Given the description of an element on the screen output the (x, y) to click on. 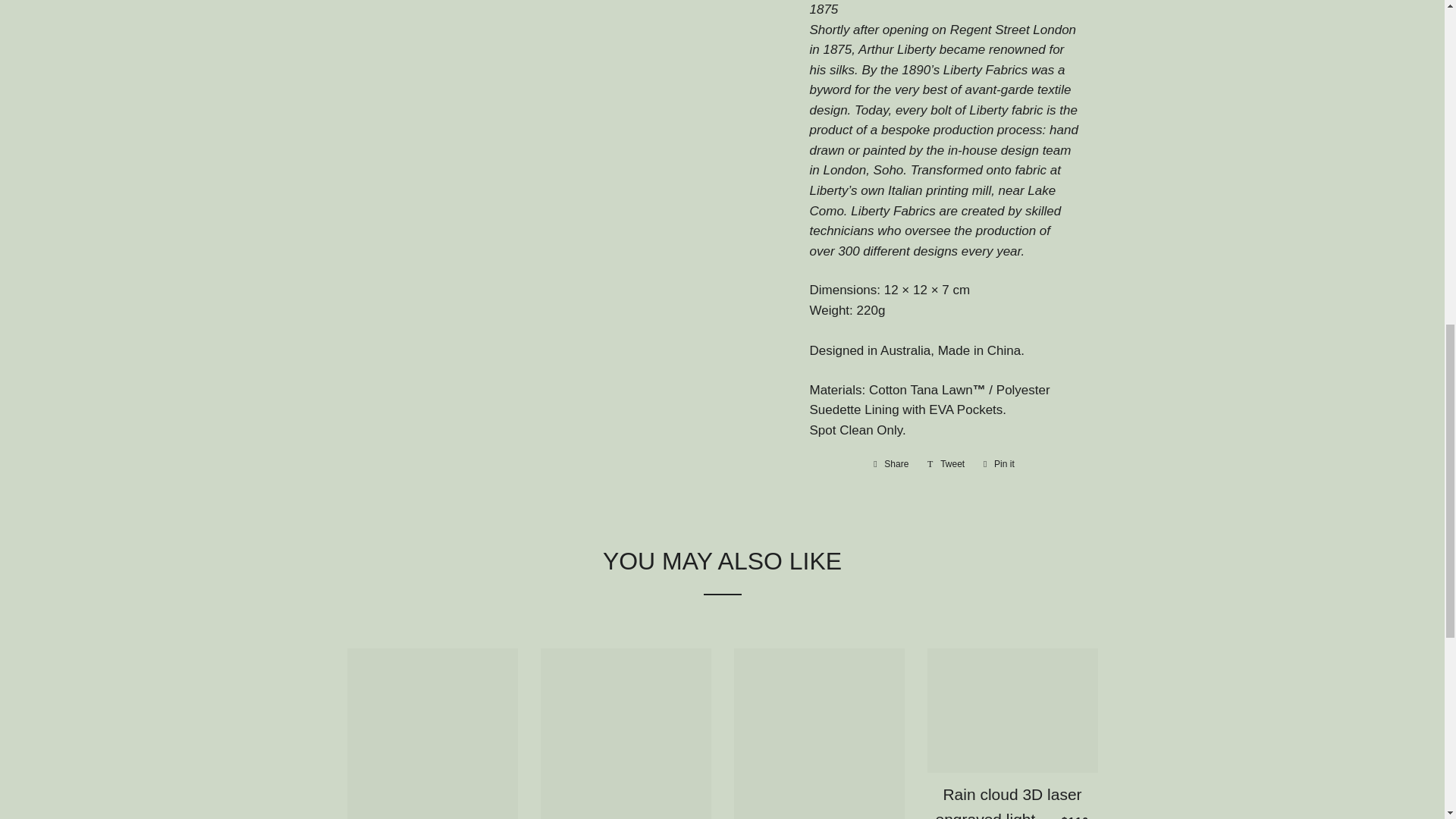
Share on Facebook (890, 463)
Tweet on Twitter (946, 463)
Pin on Pinterest (998, 463)
